Given the description of an element on the screen output the (x, y) to click on. 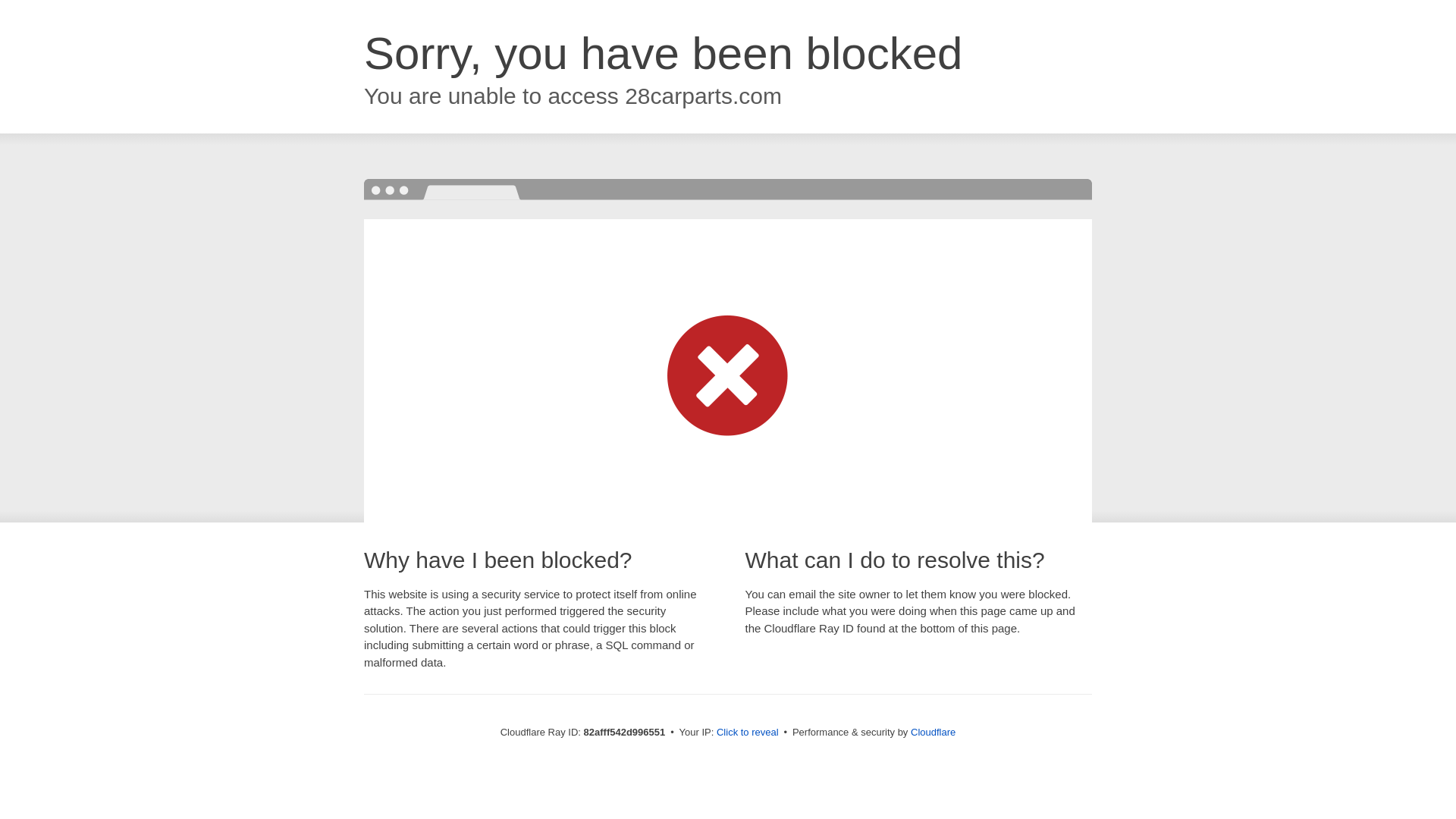
Click to reveal Element type: text (747, 732)
Cloudflare Element type: text (932, 731)
